Given the description of an element on the screen output the (x, y) to click on. 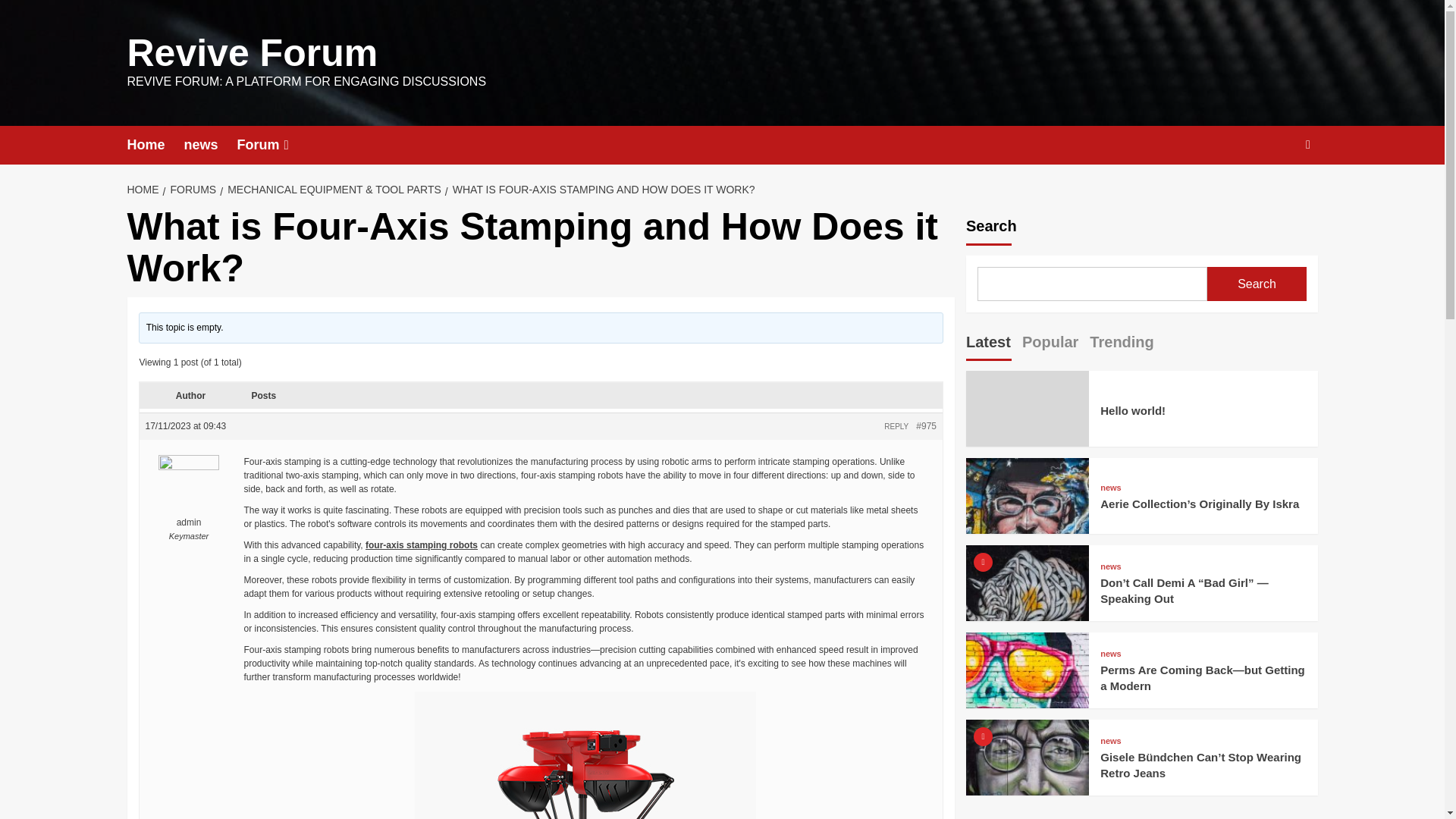
news (210, 145)
WHAT IS FOUR-AXIS STAMPING AND HOW DOES IT WORK? (601, 189)
four-axis stamping robot (584, 755)
HOME (145, 189)
Search (1307, 144)
Forum (275, 145)
admin (188, 492)
Home (156, 145)
Popular (1050, 344)
Latest (988, 344)
Trending (1121, 344)
Revive Forum (253, 52)
four-axis stamping robots (421, 544)
FORUMS (190, 189)
View admin's profile (188, 492)
